Given the description of an element on the screen output the (x, y) to click on. 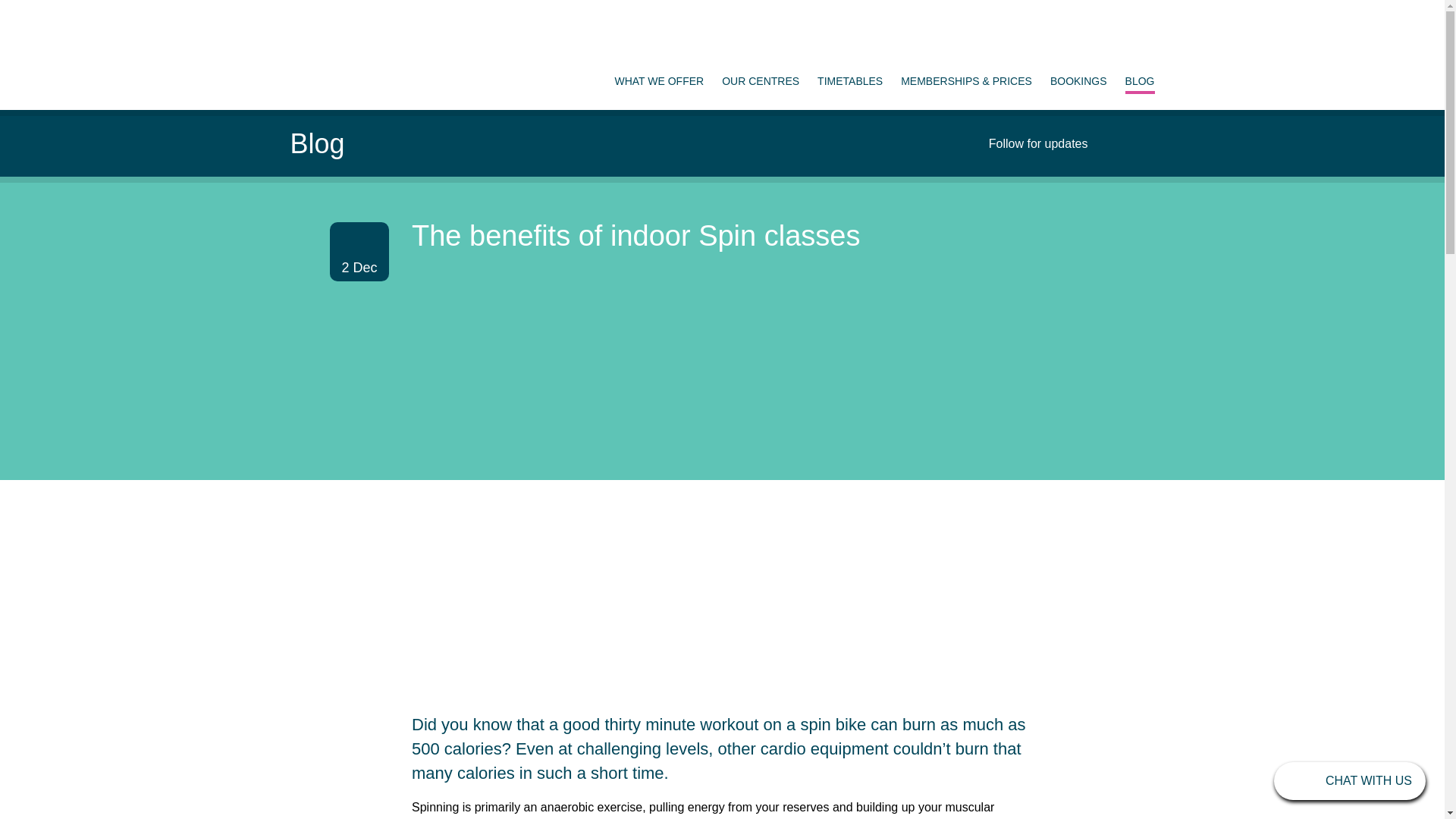
Twitter (1114, 143)
TIMETABLES (849, 80)
Brio Leisure (354, 51)
WHAT WE OFFER (658, 80)
OUR CENTRES (760, 80)
BLOG (1139, 82)
BOOKINGS (1077, 80)
